Given the description of an element on the screen output the (x, y) to click on. 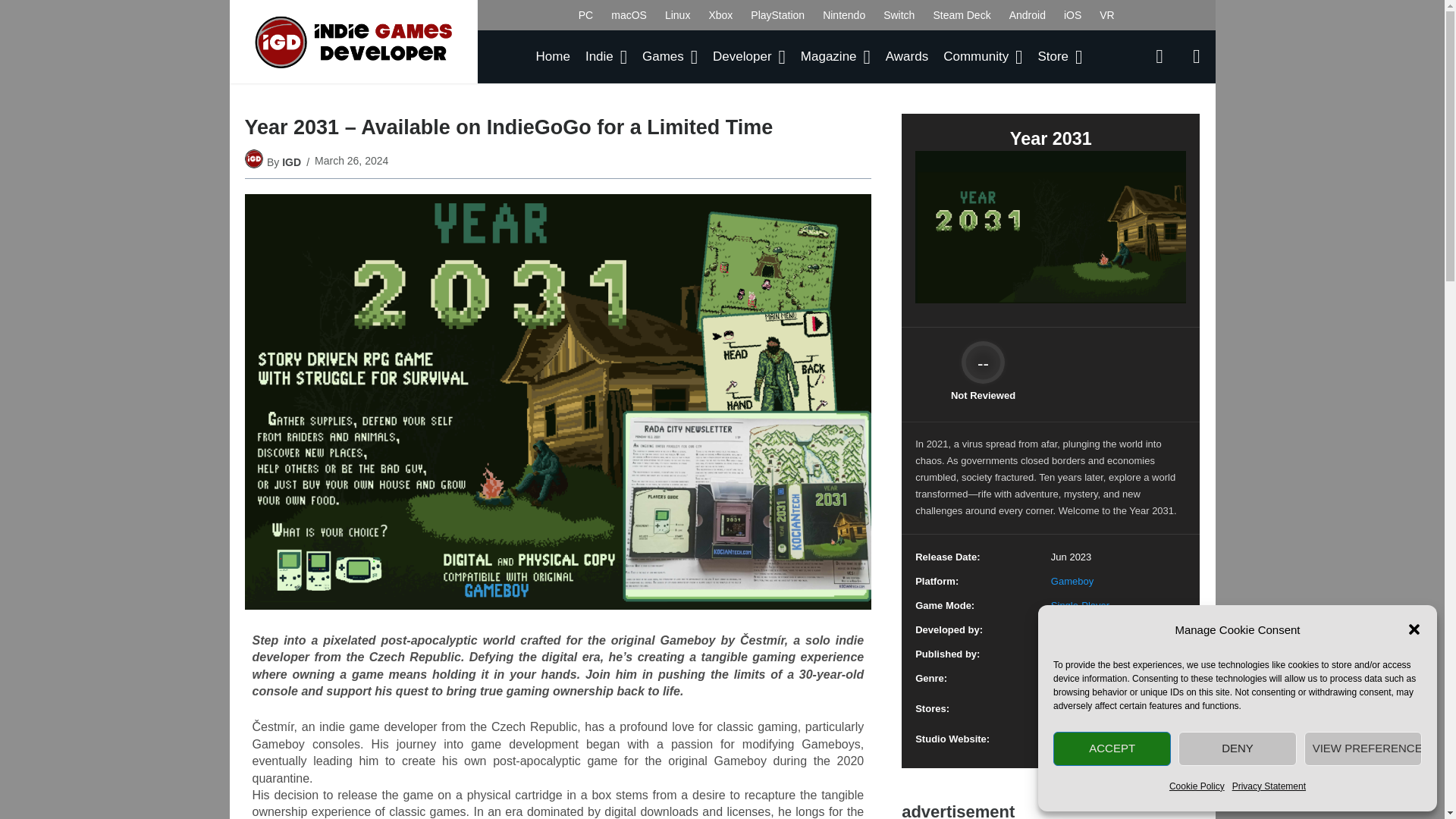
Nintendo (844, 15)
Switch (899, 15)
Privacy Statement (1268, 786)
Home (553, 56)
iOS (1072, 15)
PC (585, 15)
Steam Deck (960, 15)
Linux (677, 15)
PlayStation (777, 15)
ACCEPT (1111, 748)
DENY (1236, 748)
Posts by IGD (291, 162)
Android (1027, 15)
Indie Games Developer (352, 41)
VIEW PREFERENCES (1363, 748)
